Given the description of an element on the screen output the (x, y) to click on. 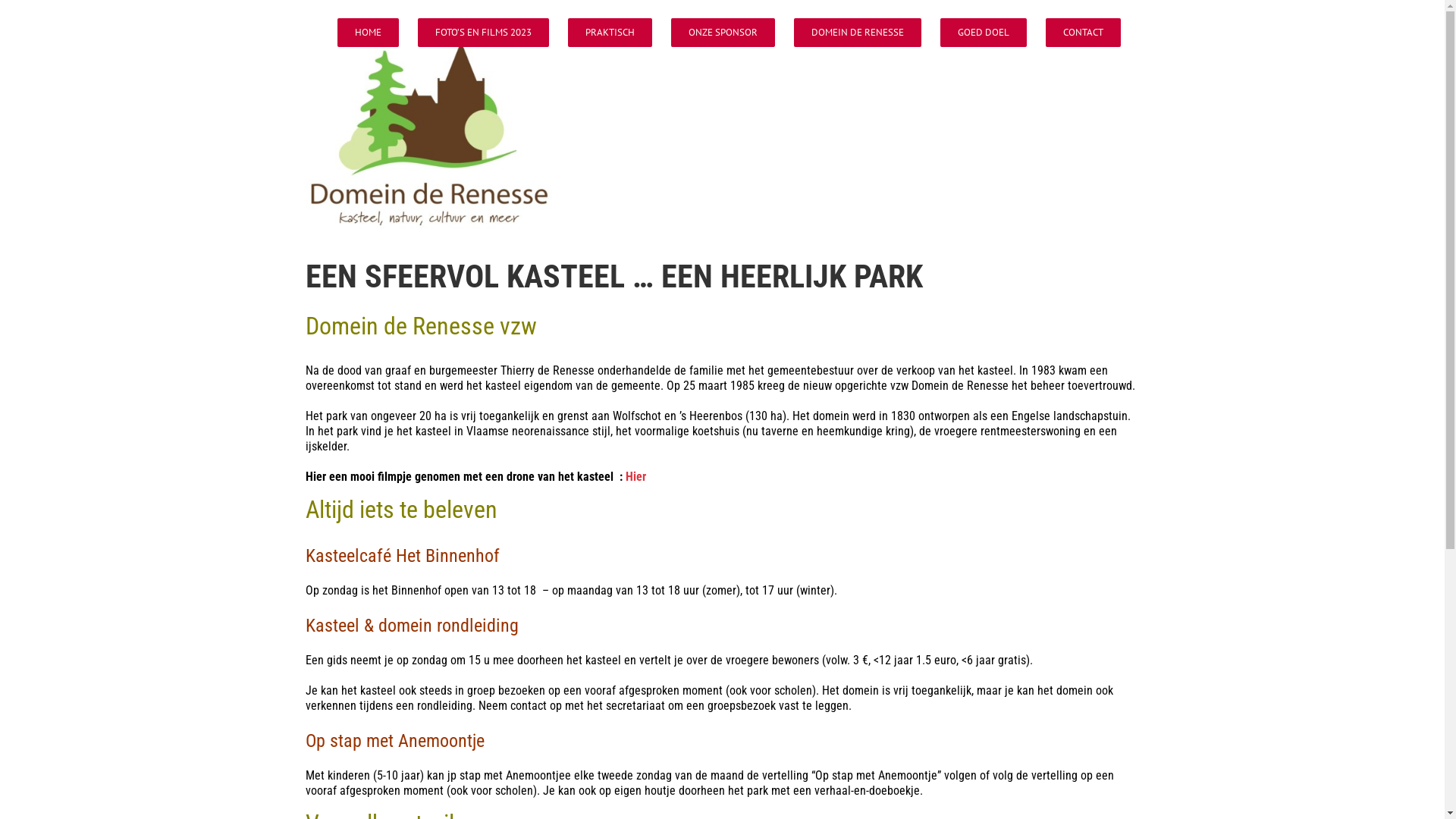
Hier Element type: text (634, 476)
ONZE SPONSOR Element type: text (722, 32)
GOED DOEL Element type: text (983, 32)
CONTACT Element type: text (1082, 32)
HOME Element type: text (367, 32)
DOMEIN DE RENESSE Element type: text (856, 32)
PRAKTISCH Element type: text (609, 32)
